Given the description of an element on the screen output the (x, y) to click on. 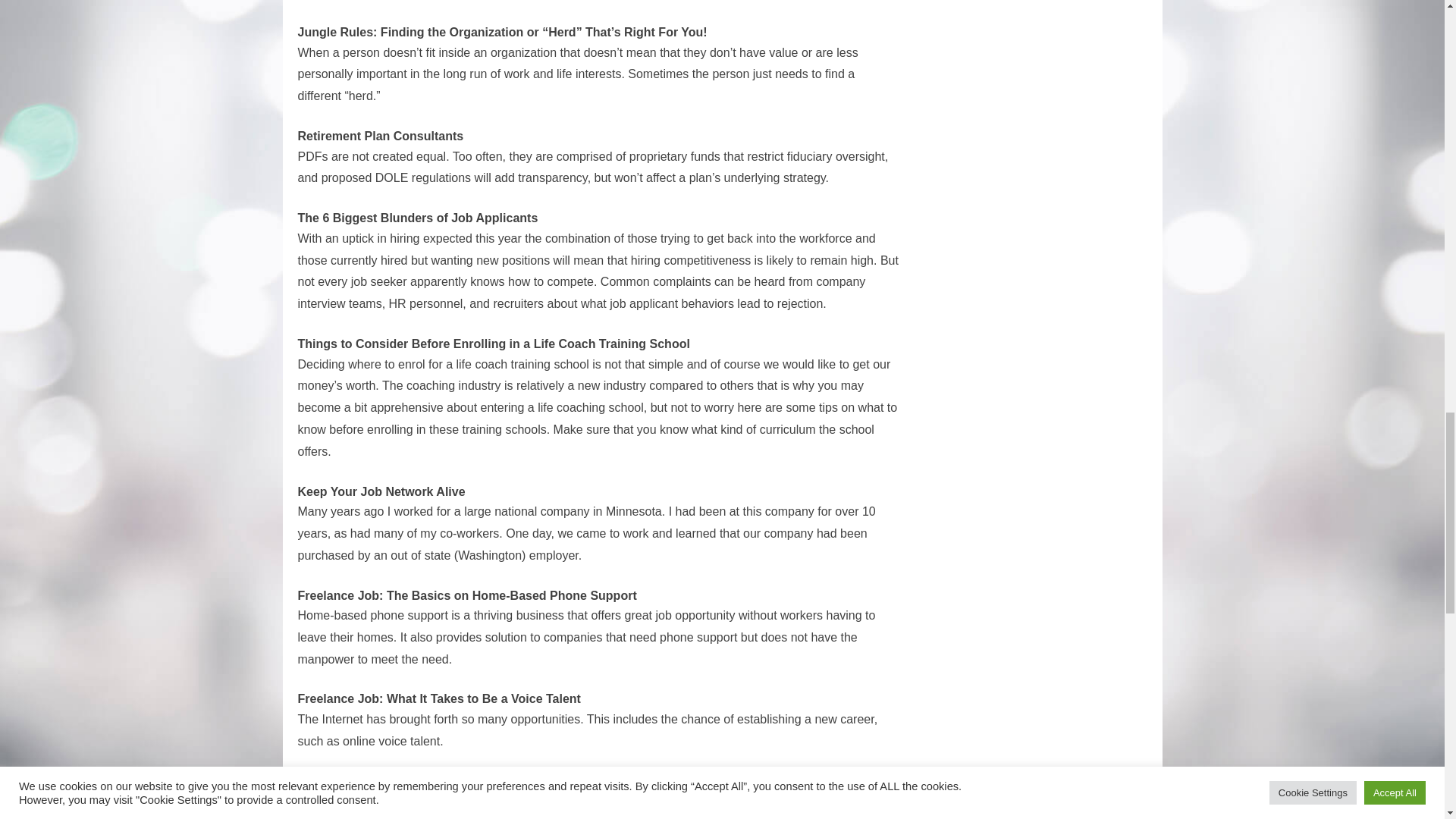
Pinterest (581, 782)
Share on Facebook (490, 782)
Tweet on Twitter (355, 782)
